Given the description of an element on the screen output the (x, y) to click on. 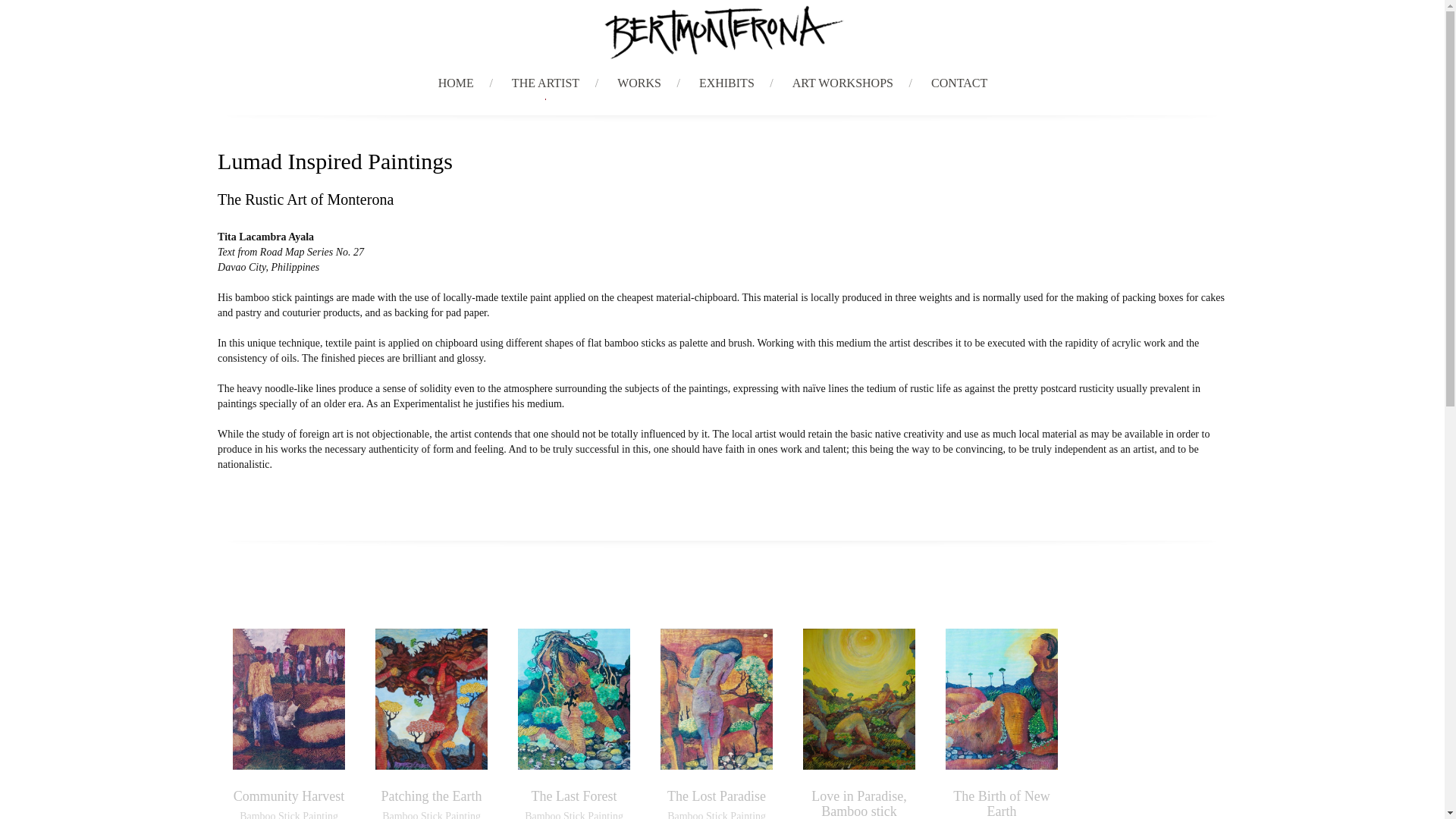
Patching the Earth (431, 795)
The Last Forest (574, 795)
Love in Paradise, Bamboo stick painting (857, 803)
Community Harvest (288, 795)
WORKS (638, 83)
CONTACT (959, 83)
The Lost Paradise (715, 795)
EXHIBITS (726, 83)
HOME (455, 83)
ART WORKSHOPS (842, 83)
THE ARTIST (545, 83)
The Birth of New Earth (1001, 803)
